Given the description of an element on the screen output the (x, y) to click on. 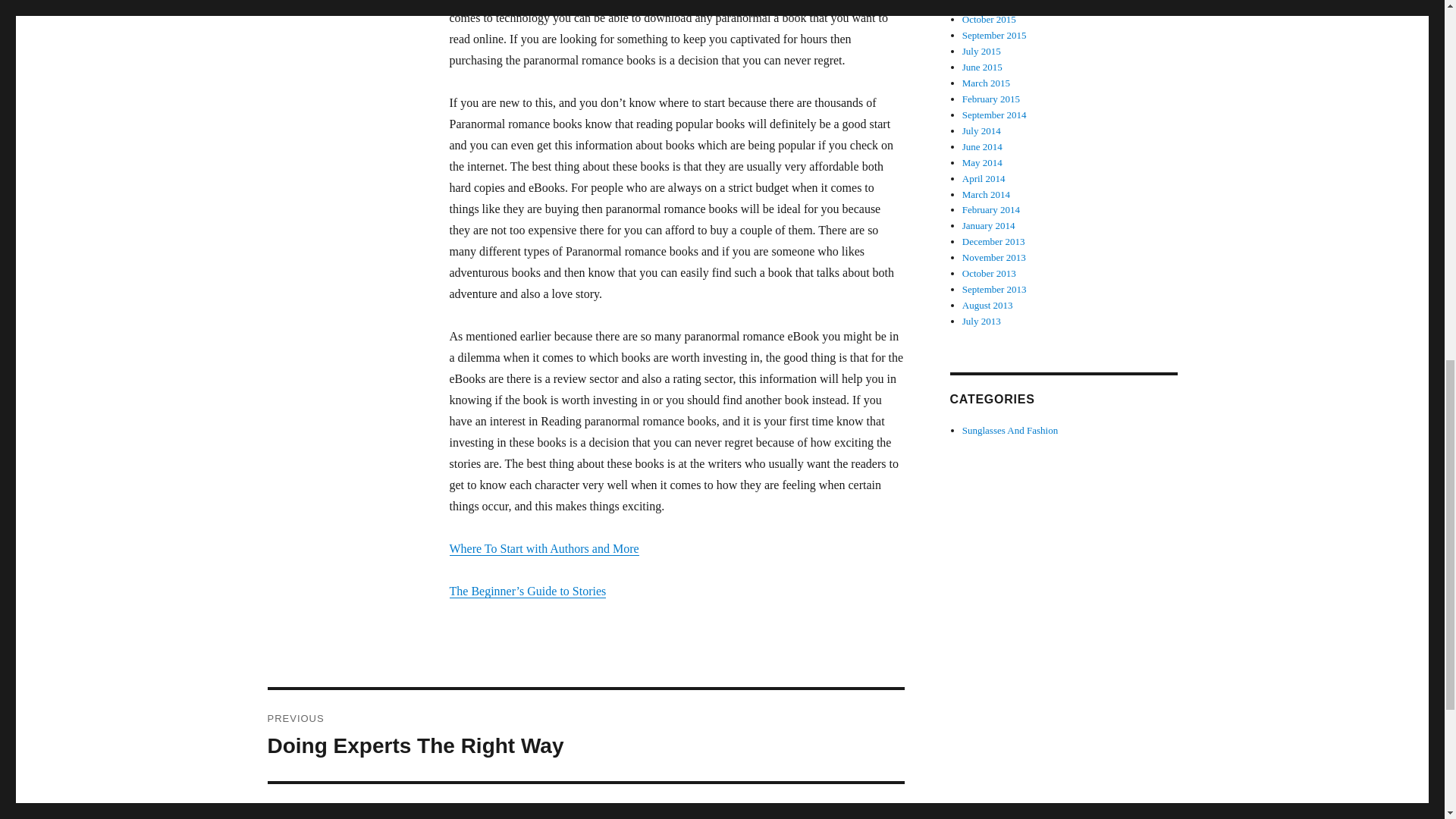
September 2014 (994, 114)
March 2015 (986, 82)
June 2015 (982, 66)
July 2013 (585, 735)
September 2015 (981, 320)
February 2015 (994, 34)
December 2015 (991, 98)
August 2013 (993, 4)
November 2013 (987, 305)
